Given the description of an element on the screen output the (x, y) to click on. 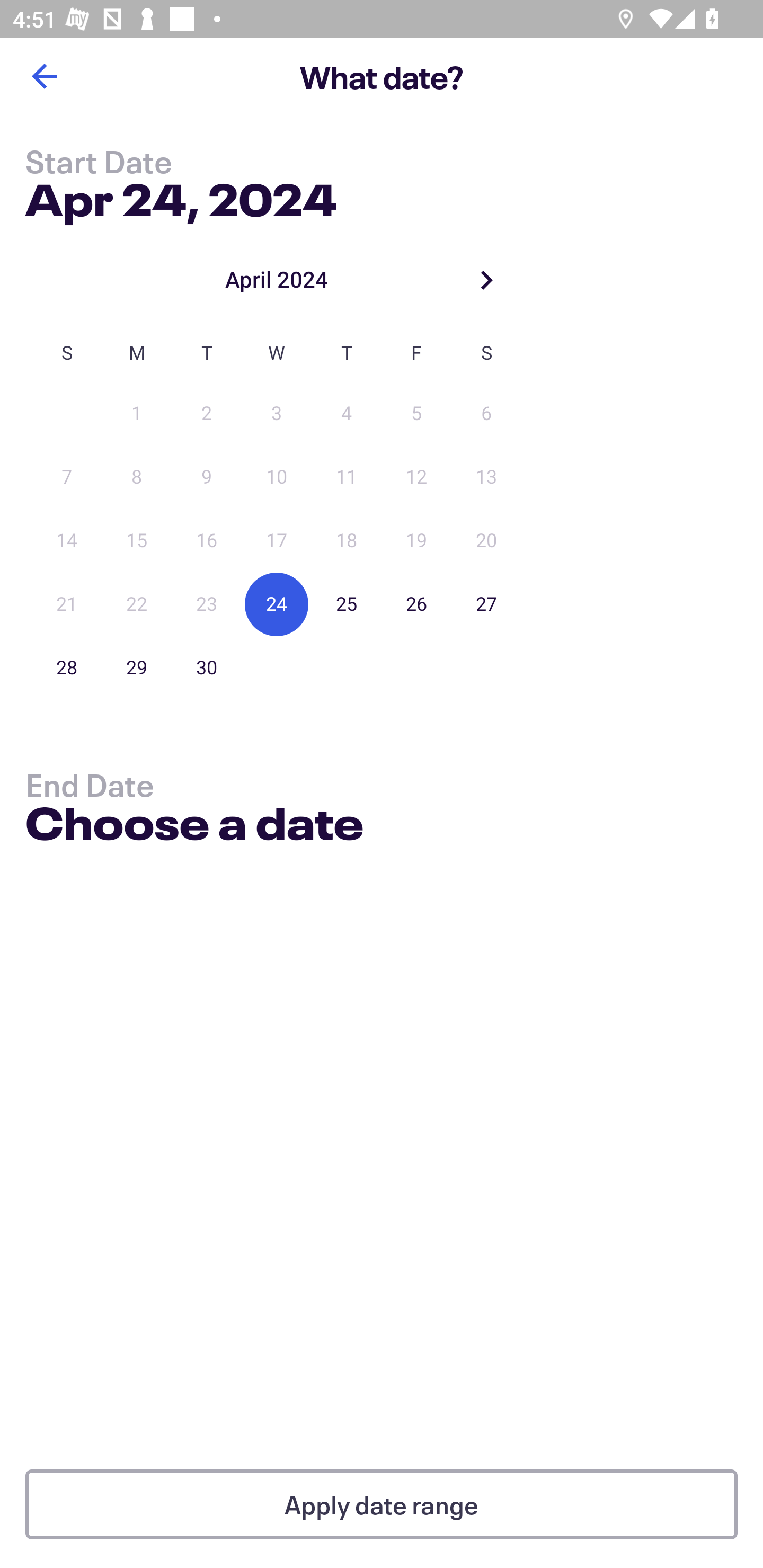
Back button (44, 75)
Apr 24, 2024 (181, 195)
Next month (486, 279)
1 01 April 2024 (136, 413)
2 02 April 2024 (206, 413)
3 03 April 2024 (276, 413)
4 04 April 2024 (346, 413)
5 05 April 2024 (416, 413)
6 06 April 2024 (486, 413)
7 07 April 2024 (66, 477)
8 08 April 2024 (136, 477)
9 09 April 2024 (206, 477)
10 10 April 2024 (276, 477)
11 11 April 2024 (346, 477)
12 12 April 2024 (416, 477)
13 13 April 2024 (486, 477)
14 14 April 2024 (66, 540)
15 15 April 2024 (136, 540)
16 16 April 2024 (206, 540)
17 17 April 2024 (276, 540)
18 18 April 2024 (346, 540)
19 19 April 2024 (416, 540)
20 20 April 2024 (486, 540)
21 21 April 2024 (66, 604)
22 22 April 2024 (136, 604)
23 23 April 2024 (206, 604)
24 24 April 2024 (276, 604)
25 25 April 2024 (346, 604)
26 26 April 2024 (416, 604)
27 27 April 2024 (486, 604)
28 28 April 2024 (66, 667)
29 29 April 2024 (136, 667)
30 30 April 2024 (206, 667)
Choose a date (194, 826)
Apply date range (381, 1504)
